Given the description of an element on the screen output the (x, y) to click on. 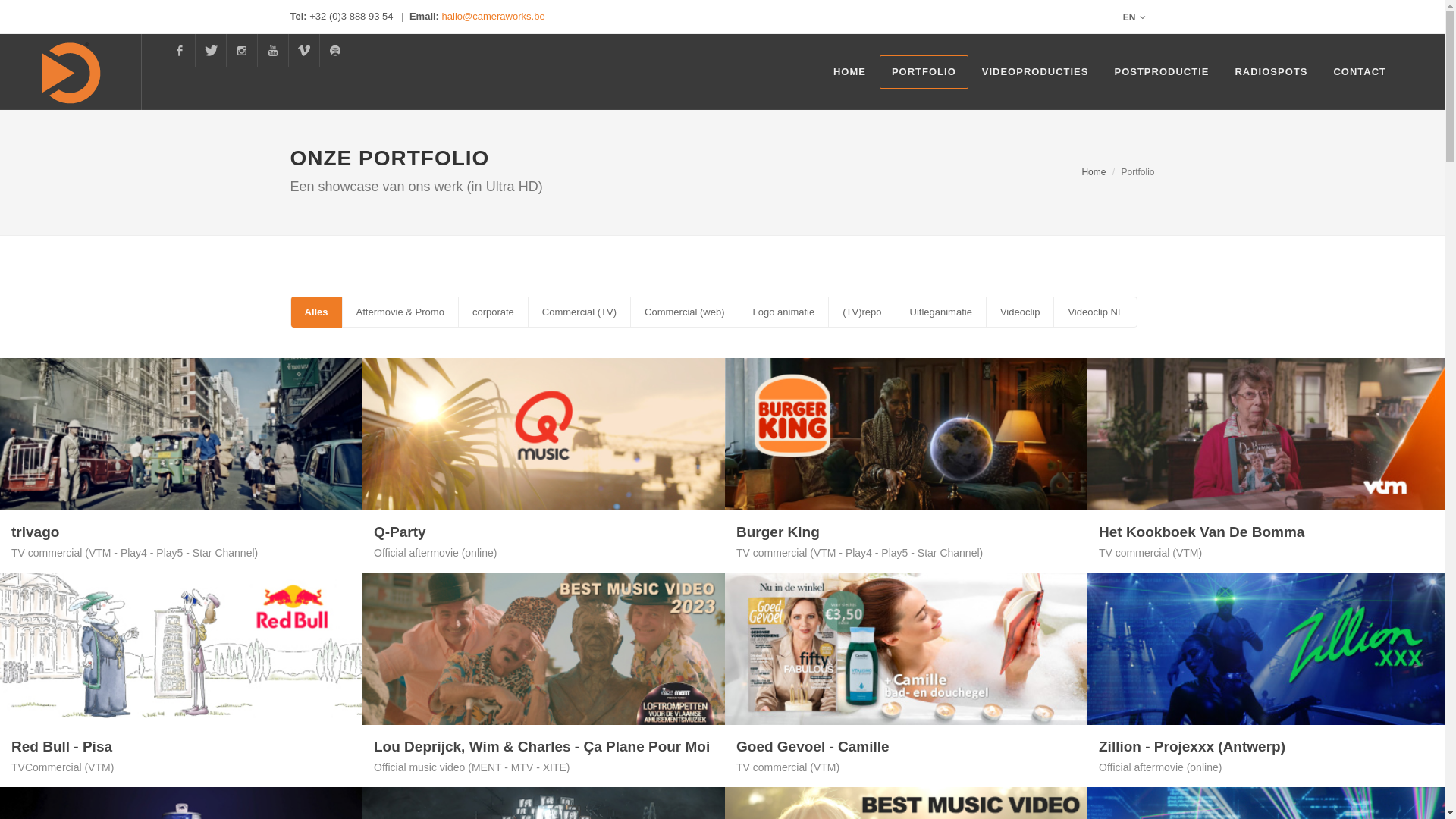
Videoclip Element type: text (1019, 311)
Commercial (TV) Element type: text (578, 311)
Commercial (web) Element type: text (683, 311)
PORTFOLIO Element type: text (923, 71)
TV commercial (VTM - Play4 - Play5 - Star Channel) Element type: text (859, 552)
Official music video (MENT - MTV - XITE) Element type: text (471, 767)
RADIOSPOTS Element type: text (1270, 71)
Official aftermovie (online) Element type: text (1159, 767)
TV commercial (VTM) Element type: text (787, 767)
Official aftermovie (online) Element type: text (434, 552)
POSTPRODUCTIE Element type: text (1160, 71)
Videoclip NL Element type: text (1094, 311)
TV commercial (VTM - Play4 - Play5 - Star Channel) Element type: text (134, 552)
EN Element type: text (1133, 16)
Uitleganimatie Element type: text (939, 311)
Aftermovie & Promo Element type: text (400, 311)
TV commercial (VTM) Element type: text (1149, 552)
TVCommercial (VTM) Element type: text (62, 767)
HOME Element type: text (849, 71)
VIDEOPRODUCTIES Element type: text (1035, 71)
Alles Element type: text (316, 311)
CONTACT Element type: text (1359, 71)
hallo@cameraworks.be Element type: text (493, 15)
corporate Element type: text (492, 311)
(TV)repo Element type: text (861, 311)
Logo animatie Element type: text (783, 311)
Home Element type: text (1093, 171)
